Given the description of an element on the screen output the (x, y) to click on. 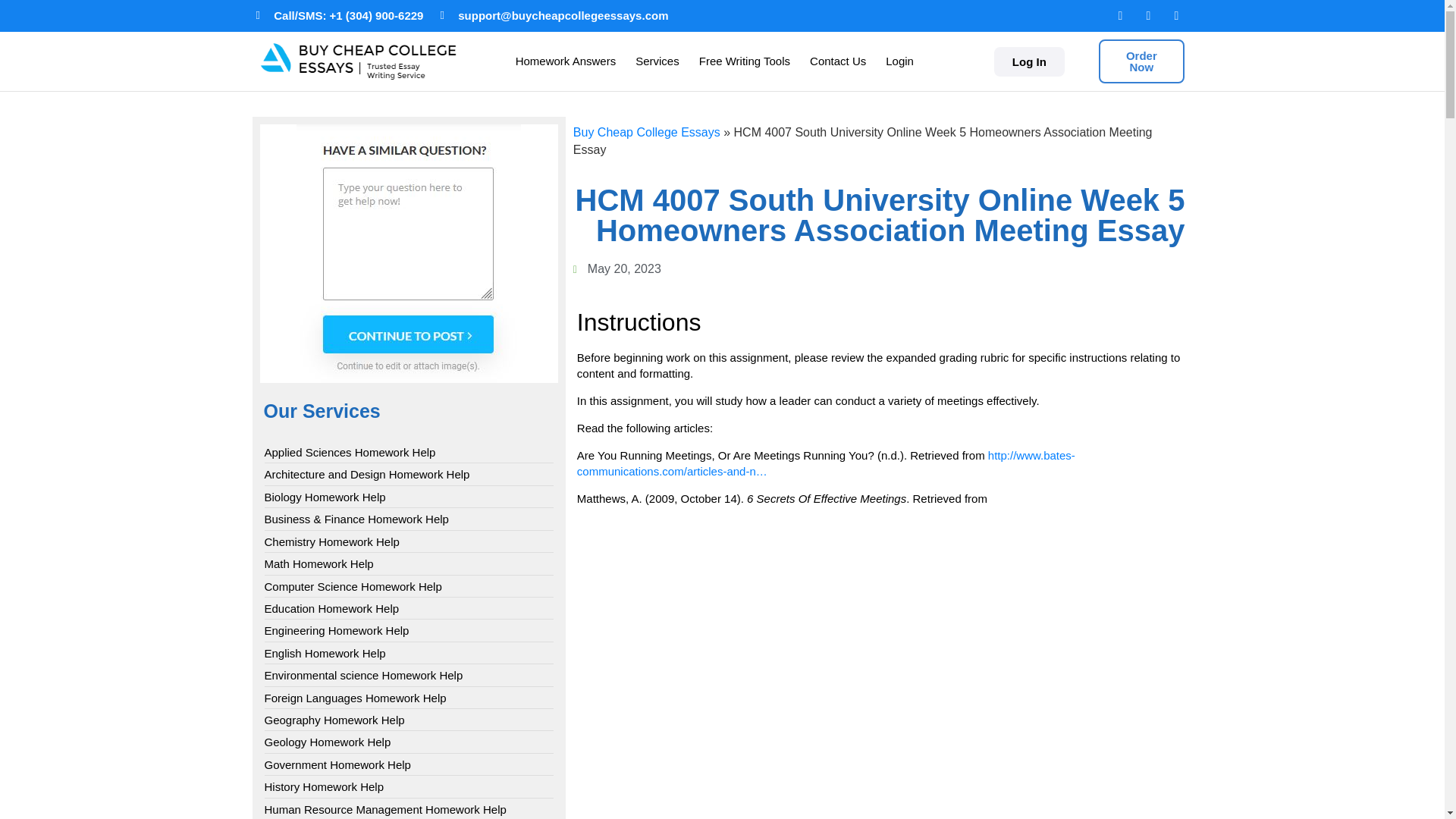
Services (657, 61)
Login (899, 61)
Free Writing Tools (743, 61)
Homework Answers (565, 61)
Contact Us (837, 61)
